Given the description of an element on the screen output the (x, y) to click on. 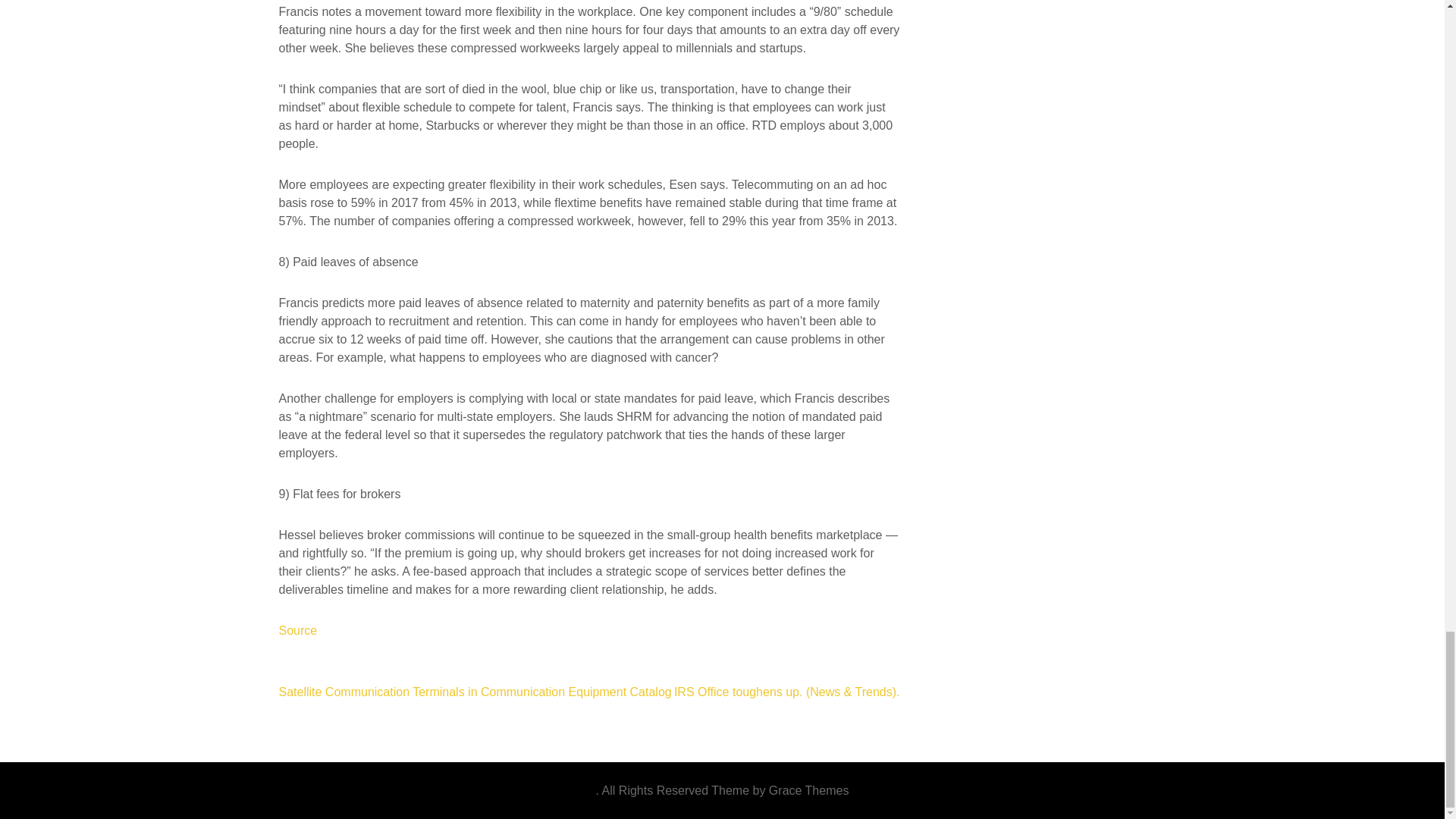
Source (298, 630)
